Given the description of an element on the screen output the (x, y) to click on. 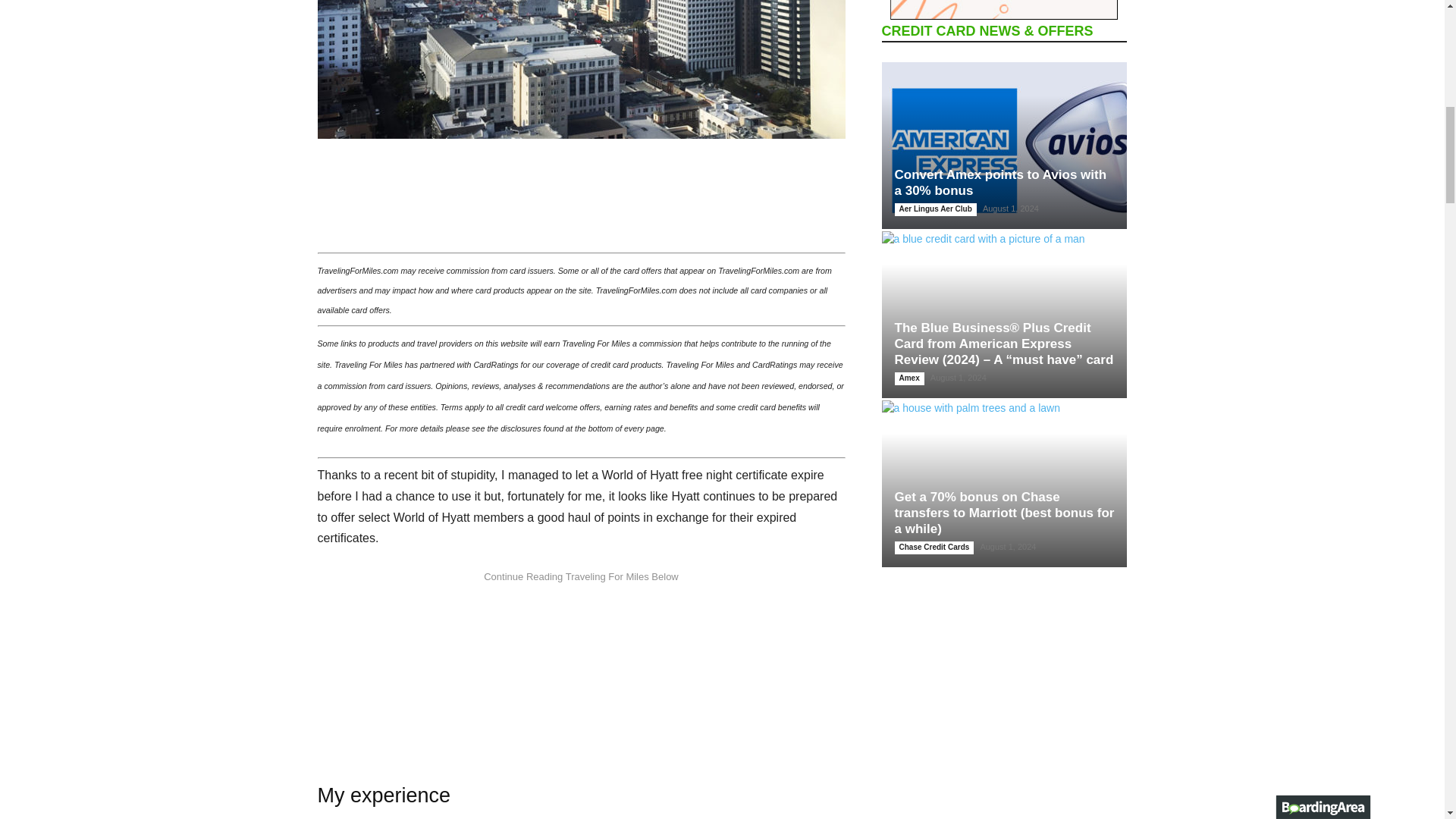
world-of-hyatt-741 (580, 69)
